Given the description of an element on the screen output the (x, y) to click on. 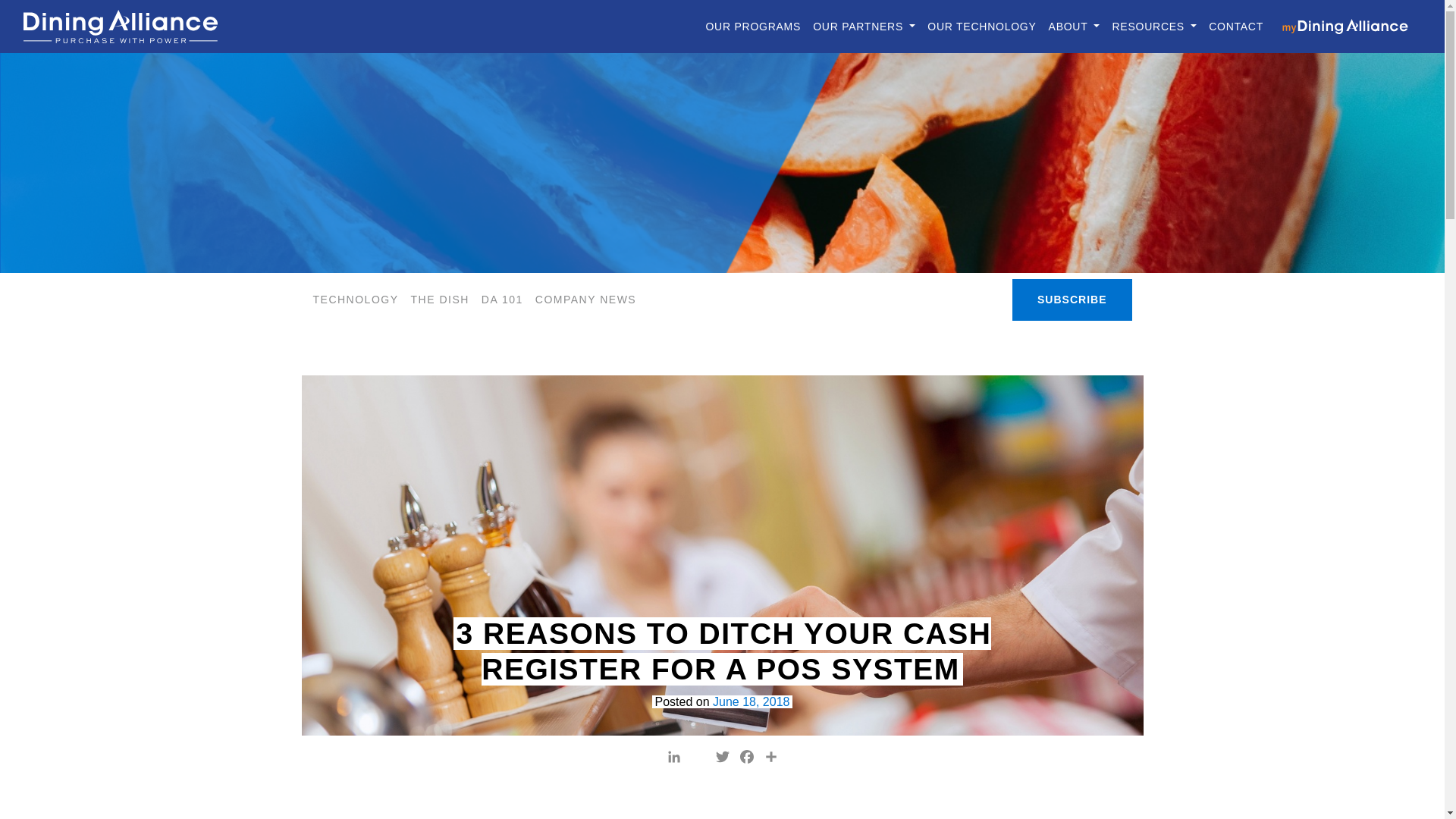
OUR PARTNERS (863, 26)
Dining Alliance (119, 25)
Our Programs (752, 26)
ABOUT (1074, 26)
Our Technology (981, 26)
About (1074, 26)
OUR TECHNOLOGY (981, 26)
Resources (1153, 26)
Our Partners (863, 26)
OUR PROGRAMS (752, 26)
